Given the description of an element on the screen output the (x, y) to click on. 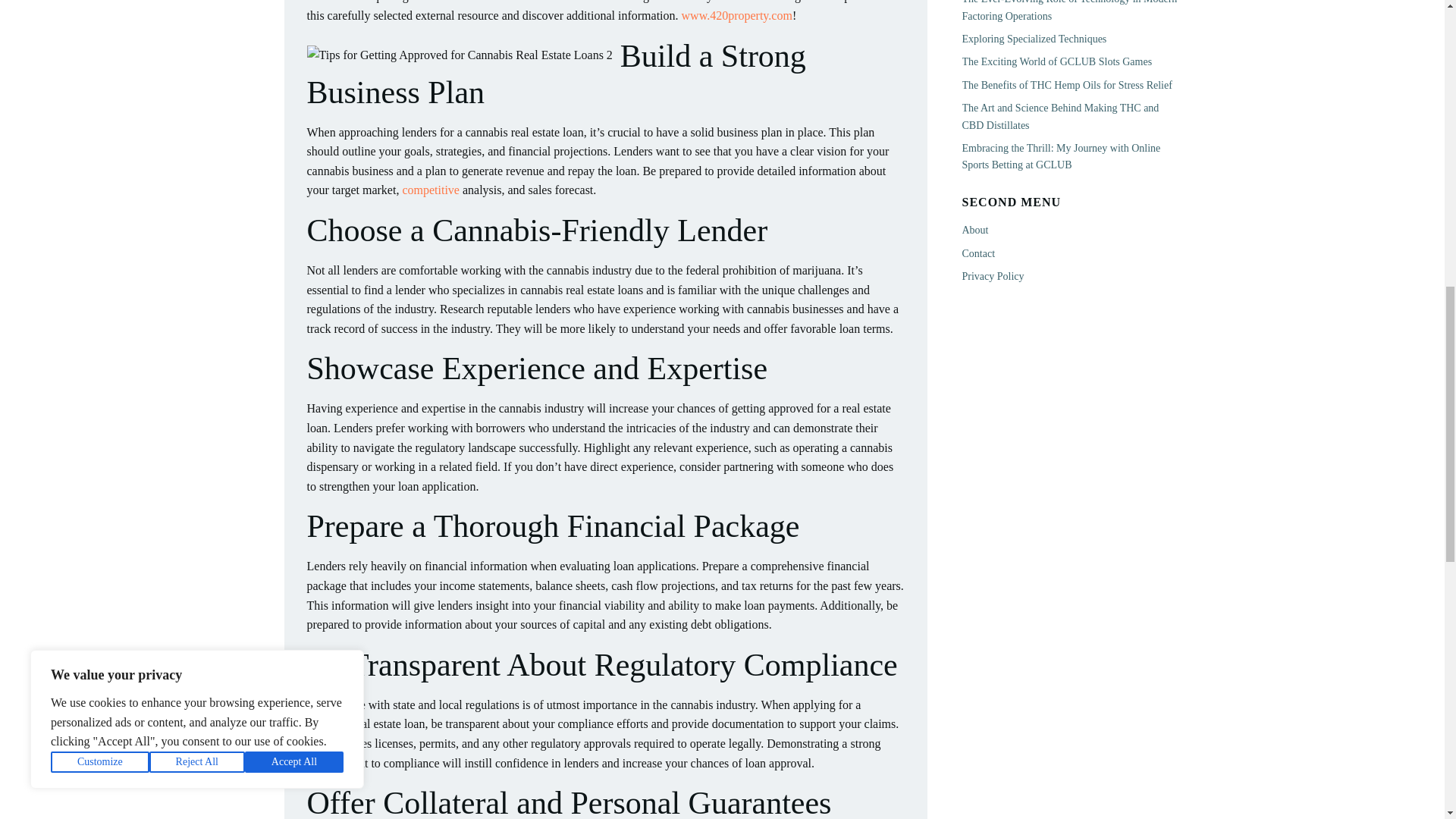
www.420property.com (736, 15)
competitive (430, 189)
